Given the description of an element on the screen output the (x, y) to click on. 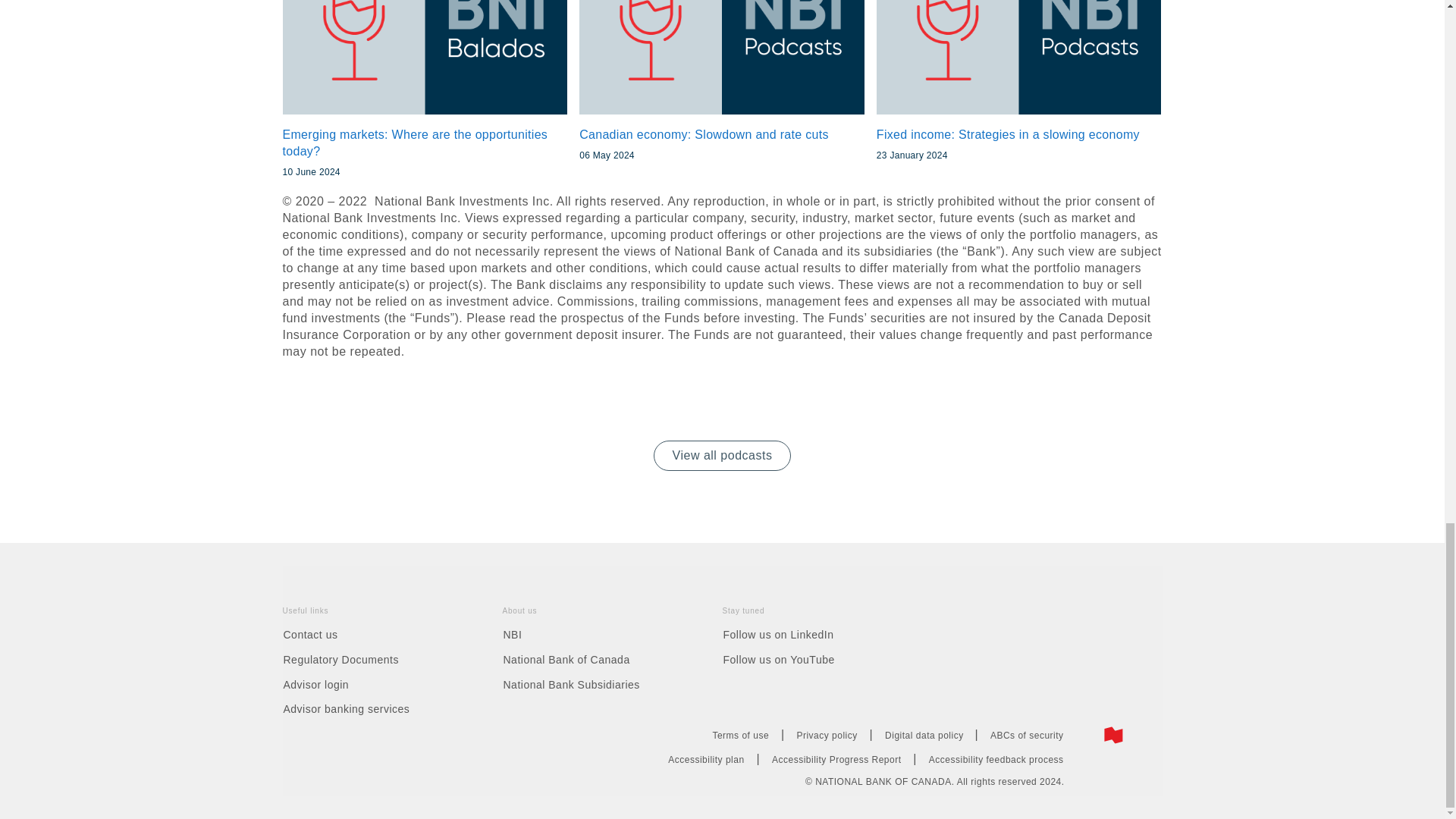
Image of podcast episode (1018, 57)
Image of podcast episode (721, 57)
Image of podcast episode (424, 57)
